Given the description of an element on the screen output the (x, y) to click on. 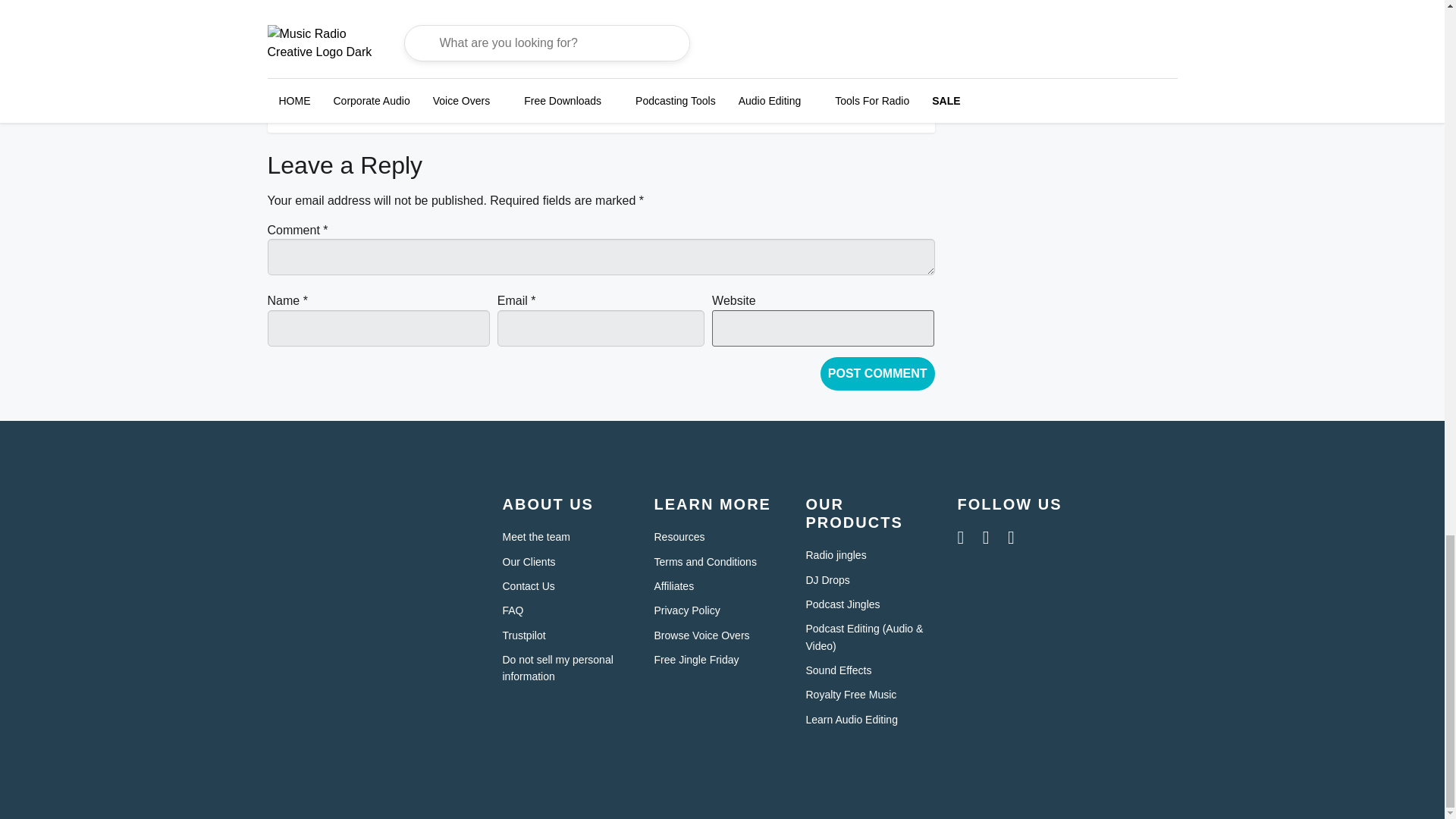
Post Comment (877, 373)
